Given the description of an element on the screen output the (x, y) to click on. 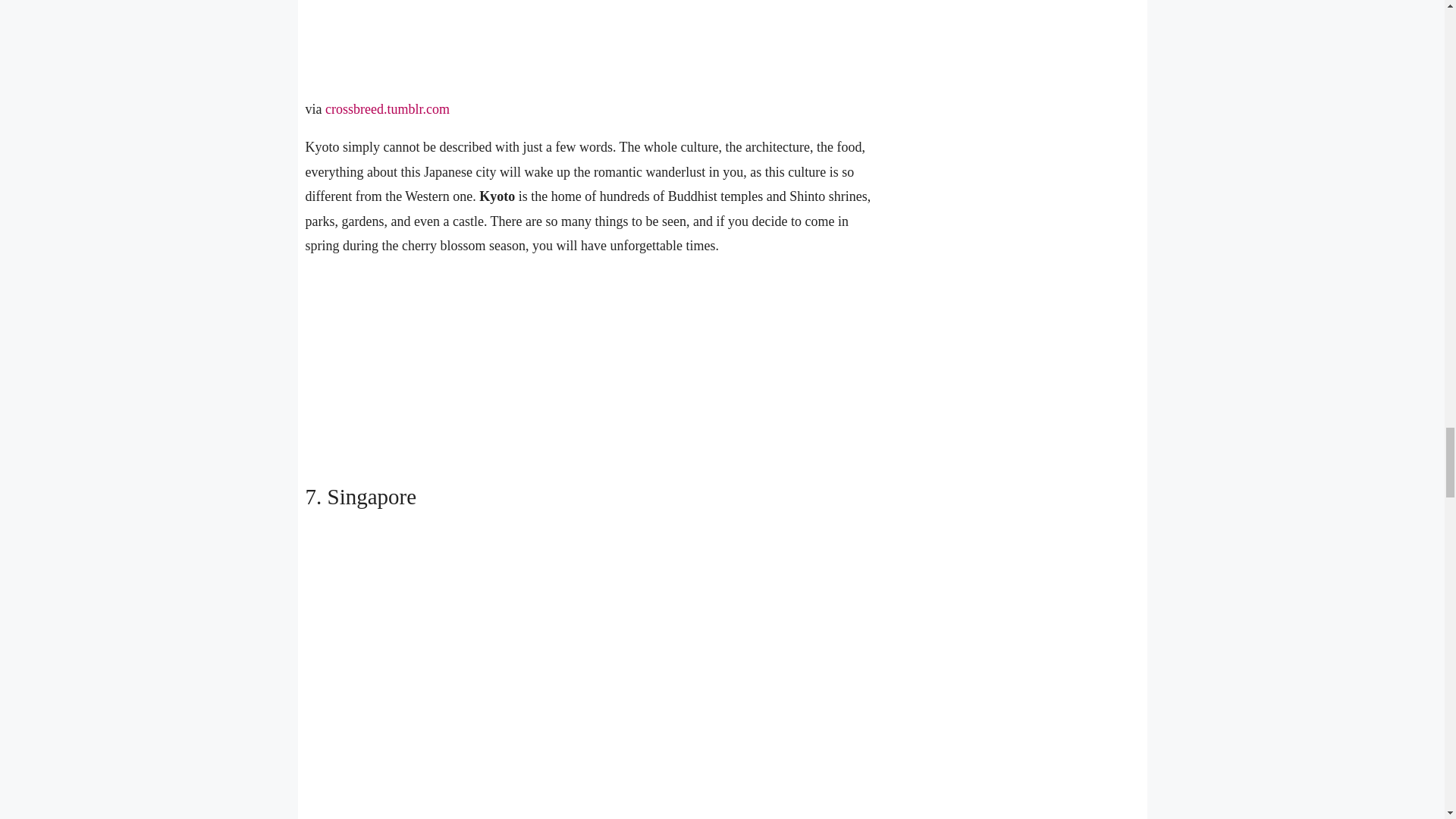
crossbreed.tumblr.com (386, 109)
